Given the description of an element on the screen output the (x, y) to click on. 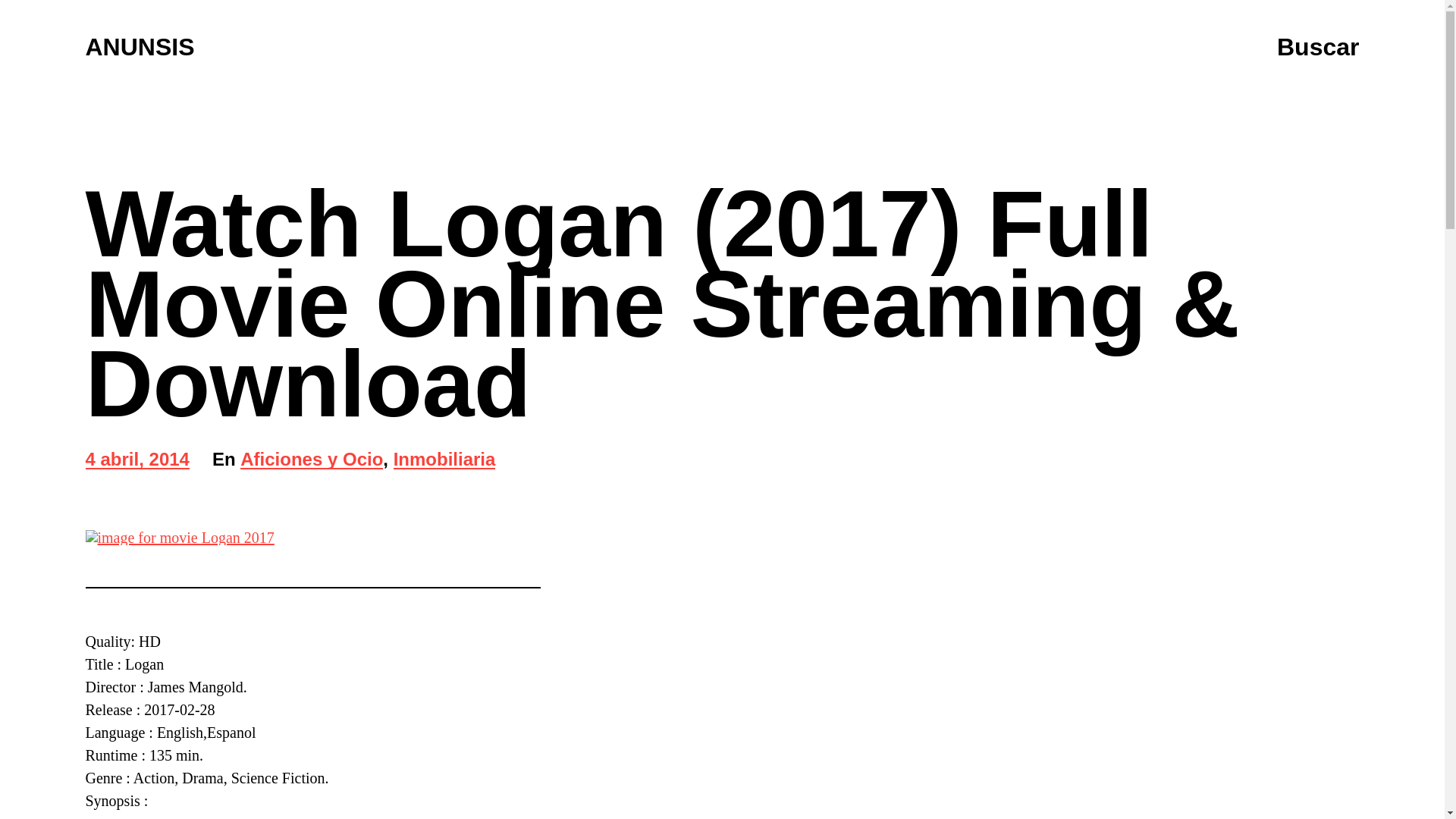
Aficiones y Ocio (311, 460)
Inmobiliaria (444, 460)
ANUNSIS (136, 460)
Buscar (138, 47)
